Given the description of an element on the screen output the (x, y) to click on. 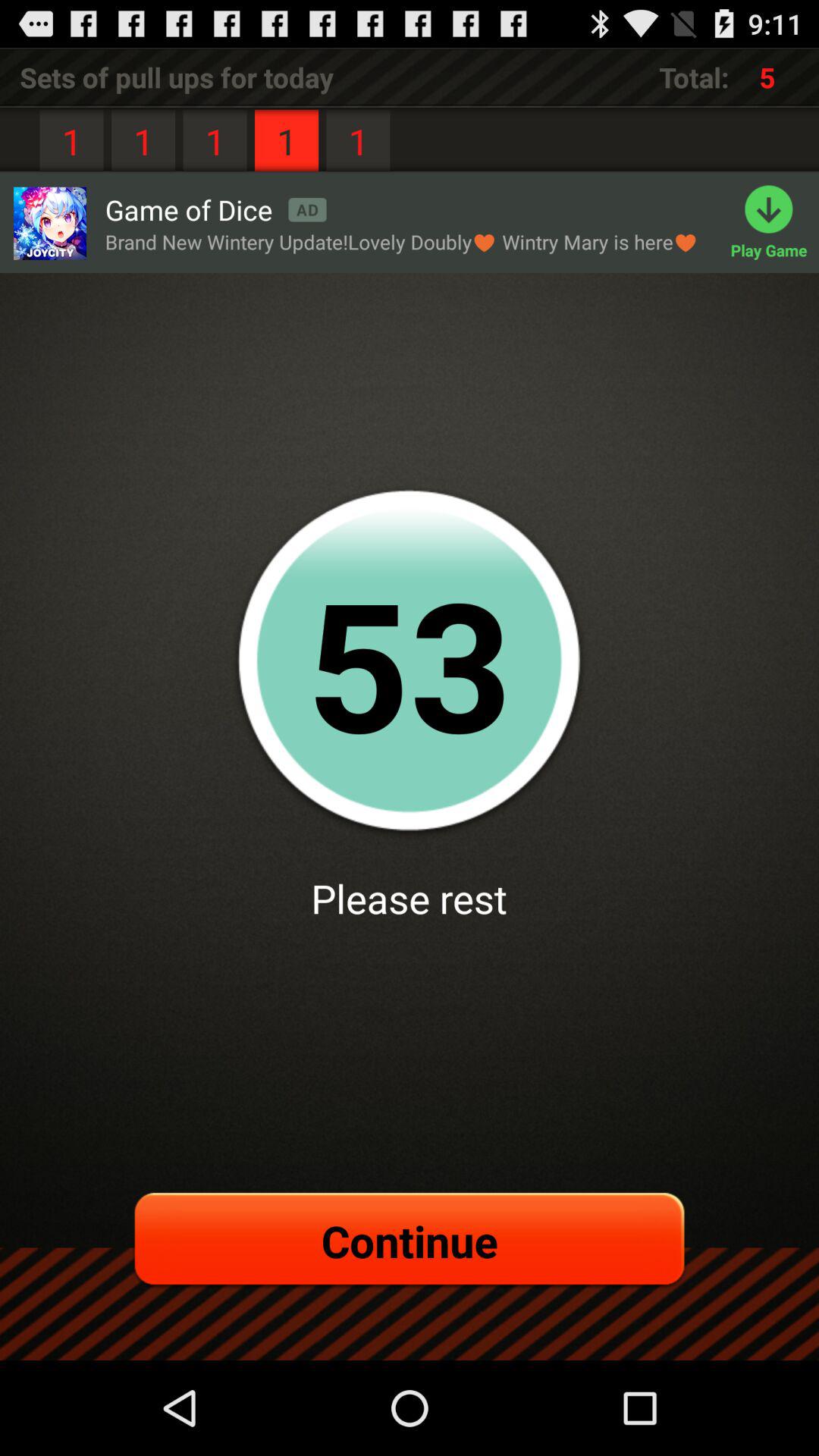
choose continue item (409, 1240)
